Given the description of an element on the screen output the (x, y) to click on. 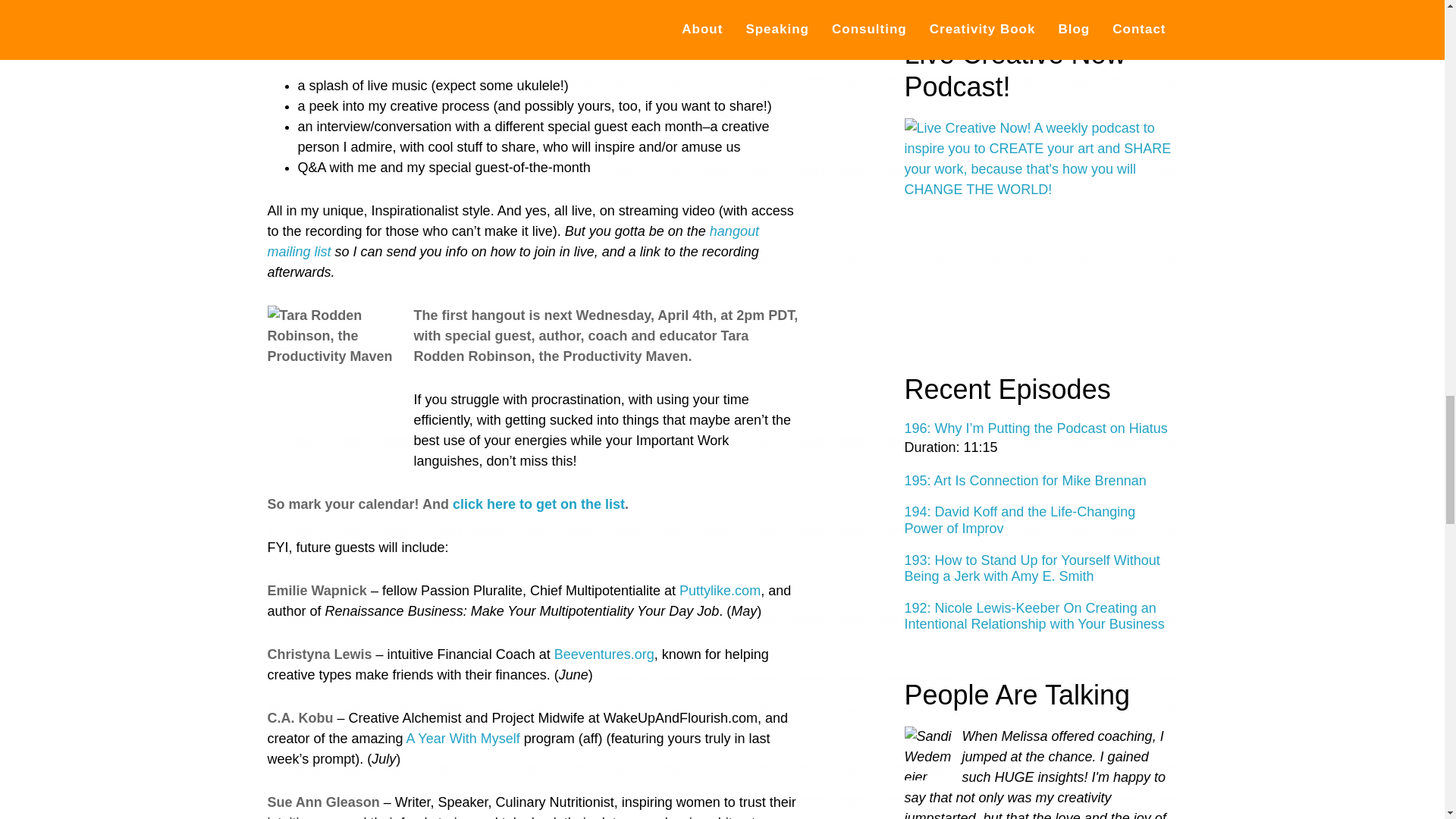
click here to get on the list (538, 503)
195: Art Is Connection for Mike Brennan (1024, 480)
Beeventures.org (603, 654)
194: David Koff and the Life-Changing Power of Improv (1019, 520)
hangout mailing list (512, 241)
A Year With Myself (462, 738)
Puttylike.com (719, 590)
